Given the description of an element on the screen output the (x, y) to click on. 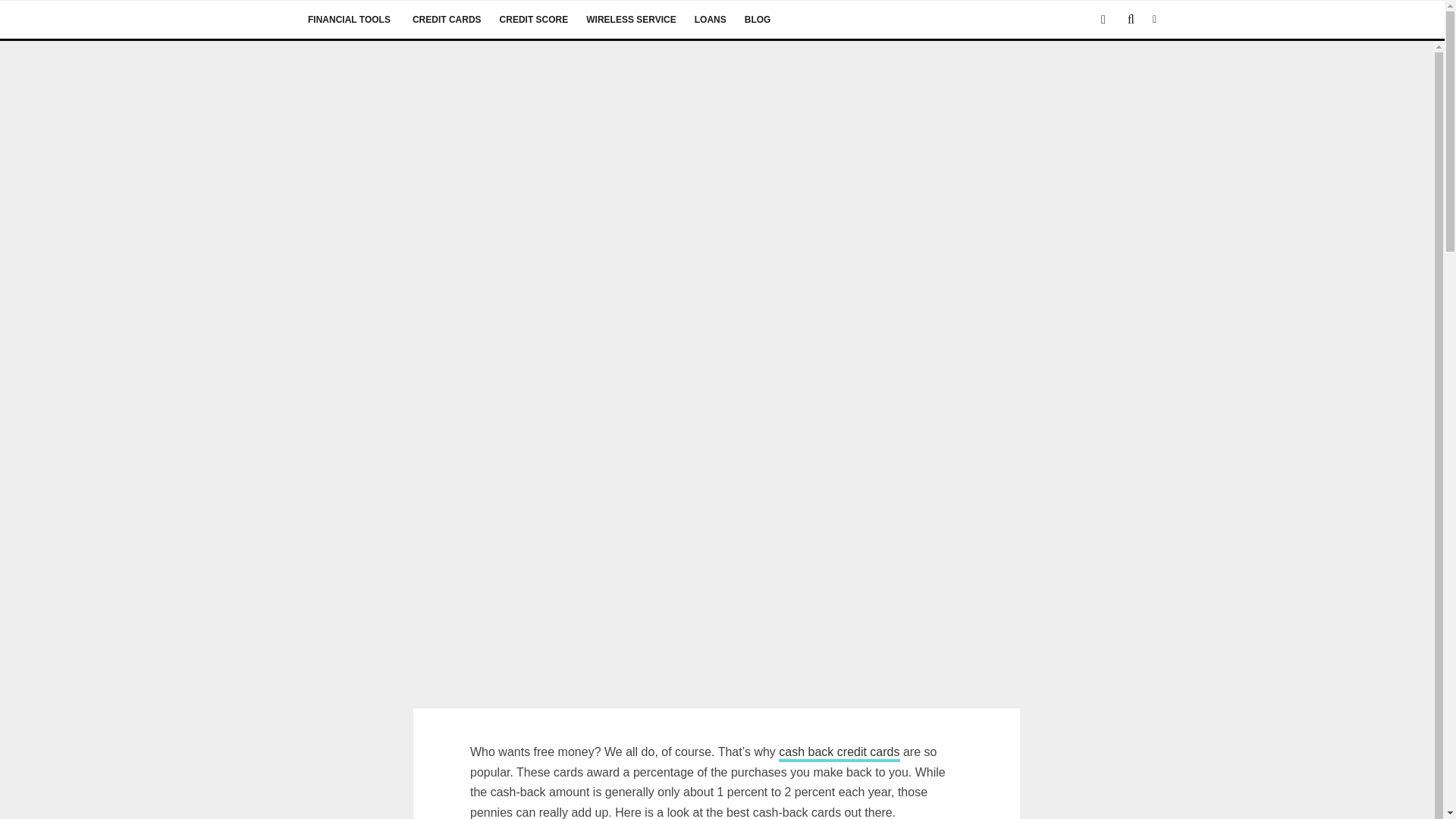
BLOG (756, 19)
FINANCIAL TOOLS (350, 19)
LOANS (709, 19)
WIRELESS SERVICE (630, 19)
CREDIT SCORE (532, 19)
CREDIT CARDS (446, 19)
